Given the description of an element on the screen output the (x, y) to click on. 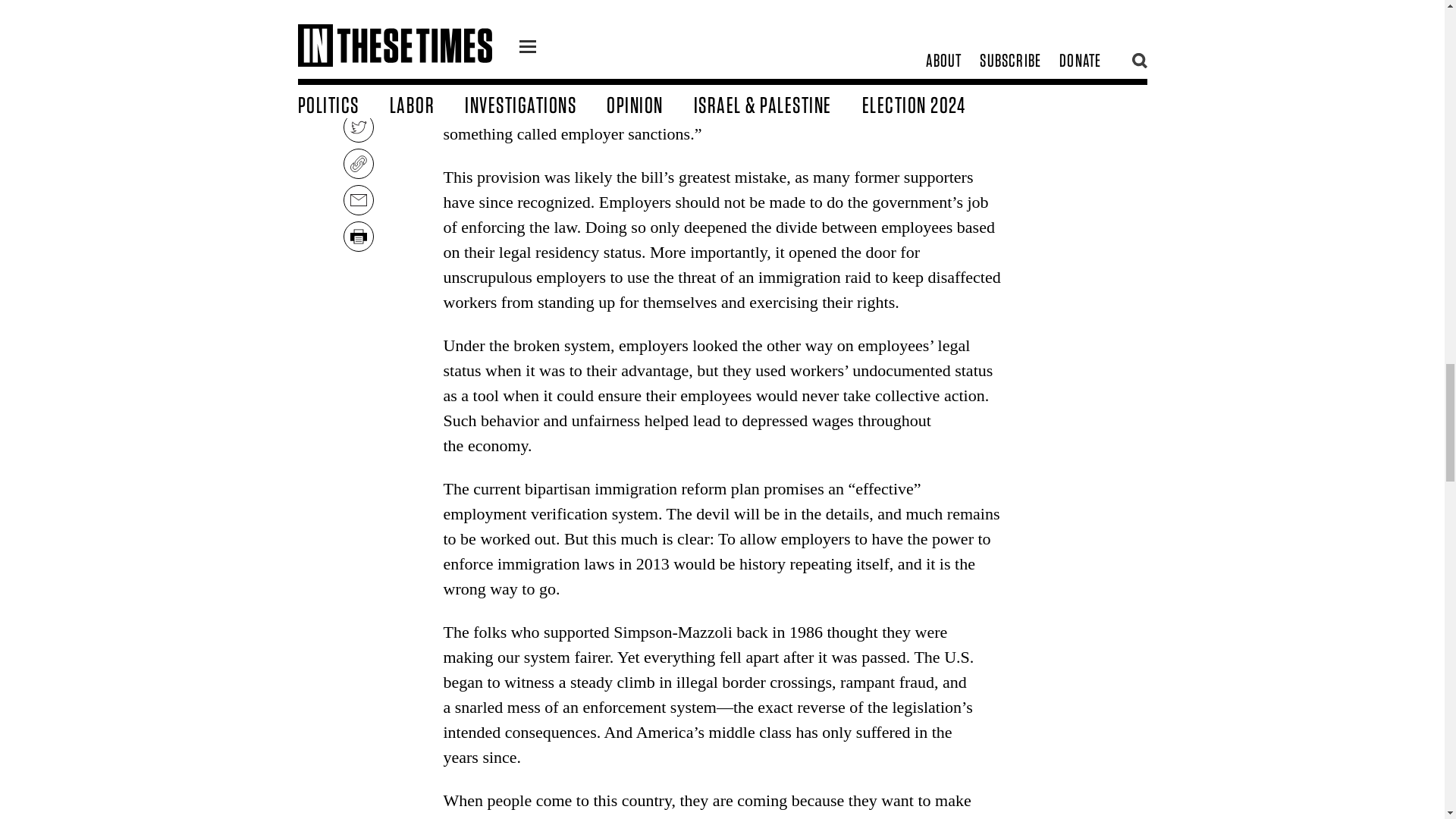
argued (464, 83)
